Given the description of an element on the screen output the (x, y) to click on. 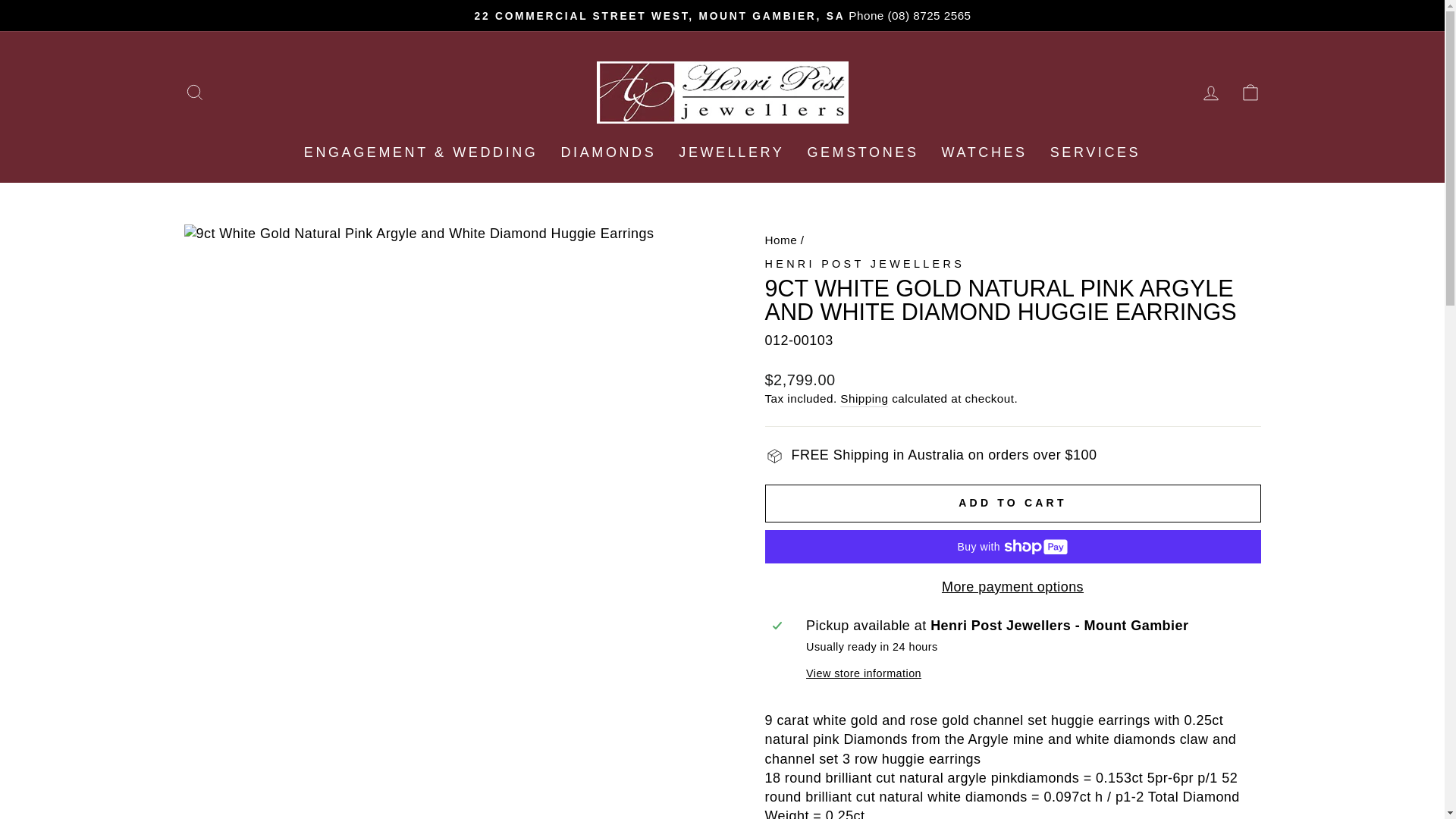
Henri Post Jewellers (863, 263)
Back to the frontpage (780, 239)
